Given the description of an element on the screen output the (x, y) to click on. 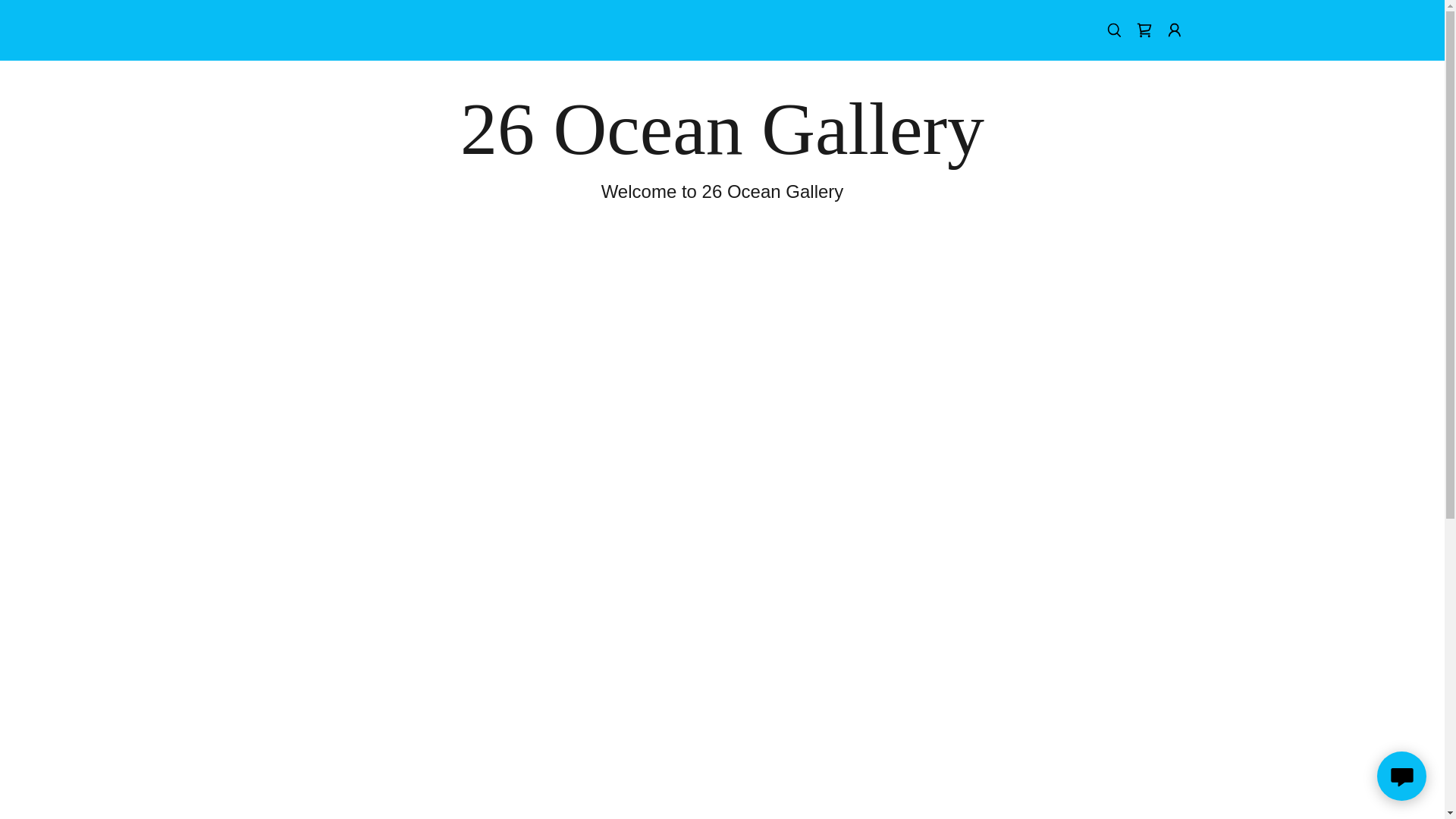
26 Ocean Gallery Element type: text (722, 148)
